Given the description of an element on the screen output the (x, y) to click on. 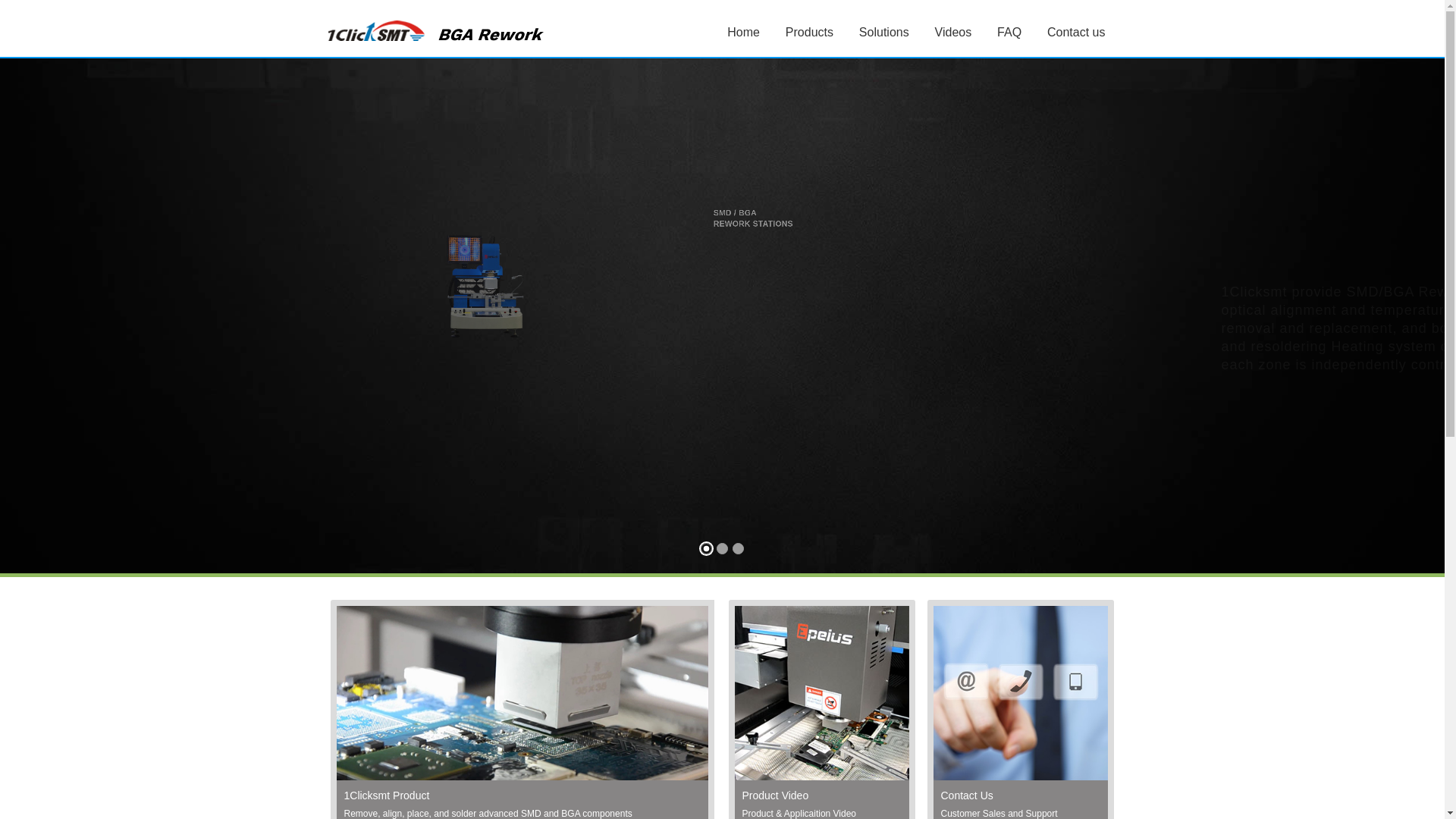
Product Video Element type: text (774, 795)
Contact us Element type: text (1075, 31)
Solutions Element type: text (884, 31)
1Clicksmt Product Element type: text (386, 795)
Videos Element type: text (953, 31)
Products Element type: text (809, 31)
LEARN MORE Element type: text (779, 424)
Home Element type: text (743, 31)
FAQ Element type: text (1009, 31)
GET PRICE Element type: text (904, 424)
Contact Us Element type: text (966, 795)
